Given the description of an element on the screen output the (x, y) to click on. 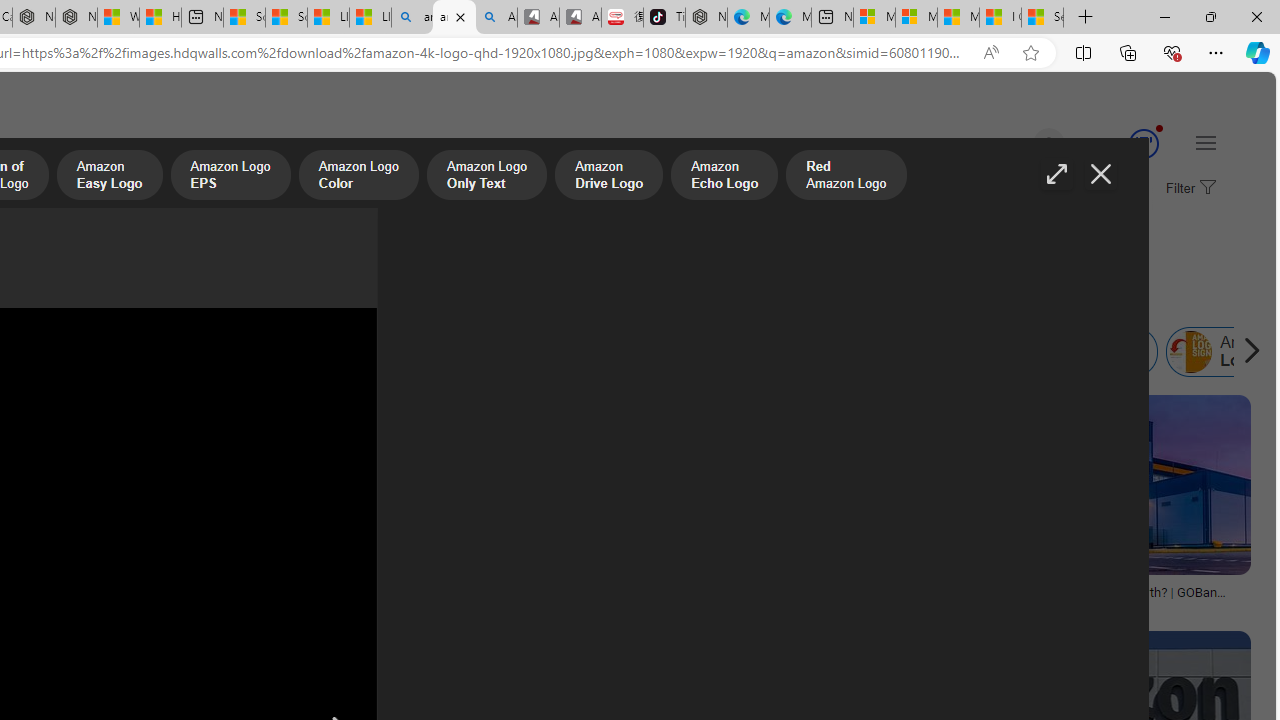
Amazon down? Current status and problems | Downdetector (233, 598)
Settings and quick links (1205, 142)
Amazon.com.au (270, 351)
Image result for amazon (1103, 485)
Amazon Package (1088, 351)
All Cubot phones (580, 17)
Amazon Spain (800, 351)
Amazon Prime Membership (44, 351)
Full screen (1055, 173)
Amazon Shoes (618, 351)
theverge.com (524, 606)
